Given the description of an element on the screen output the (x, y) to click on. 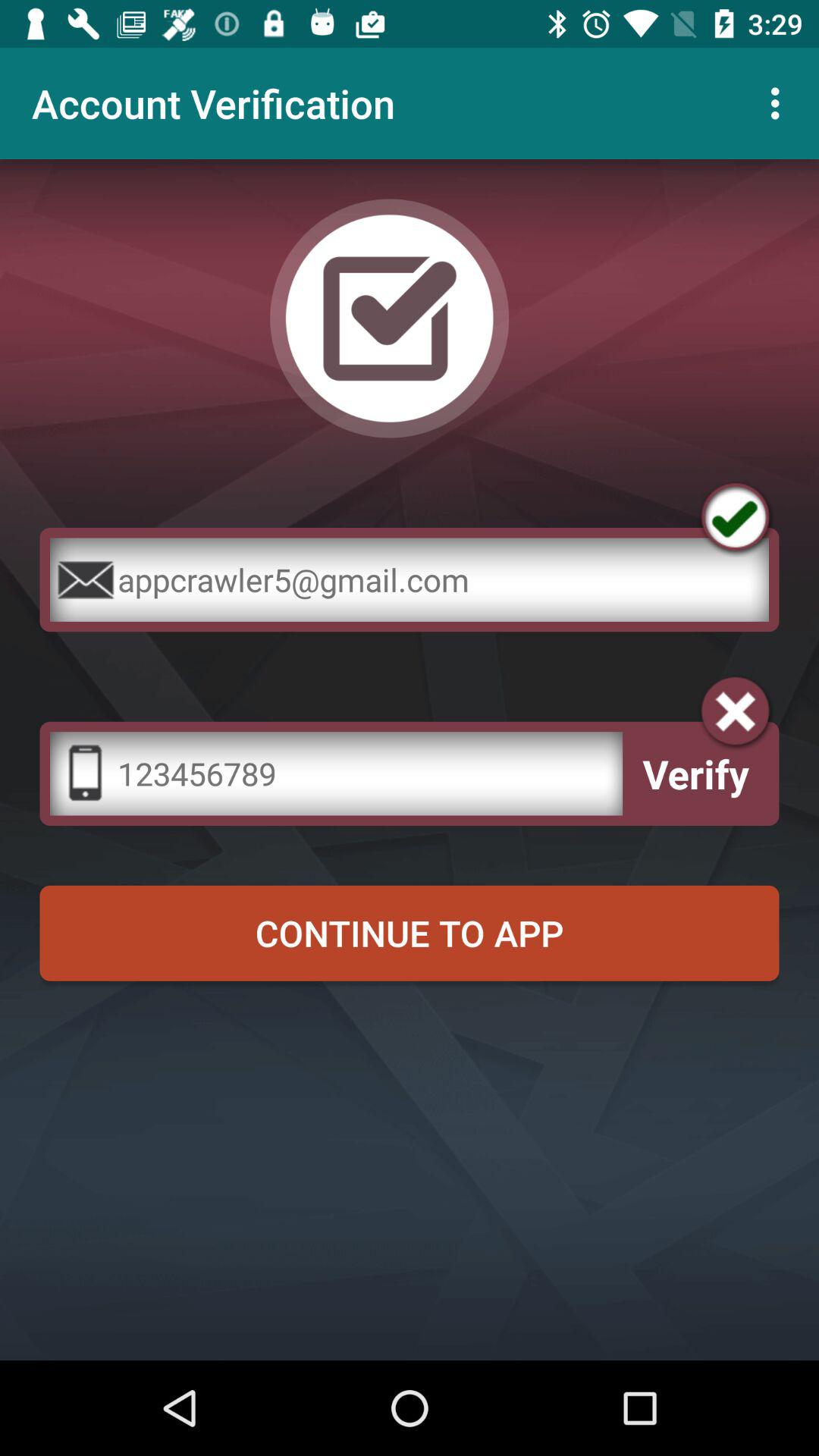
click the continue to app (409, 933)
